Given the description of an element on the screen output the (x, y) to click on. 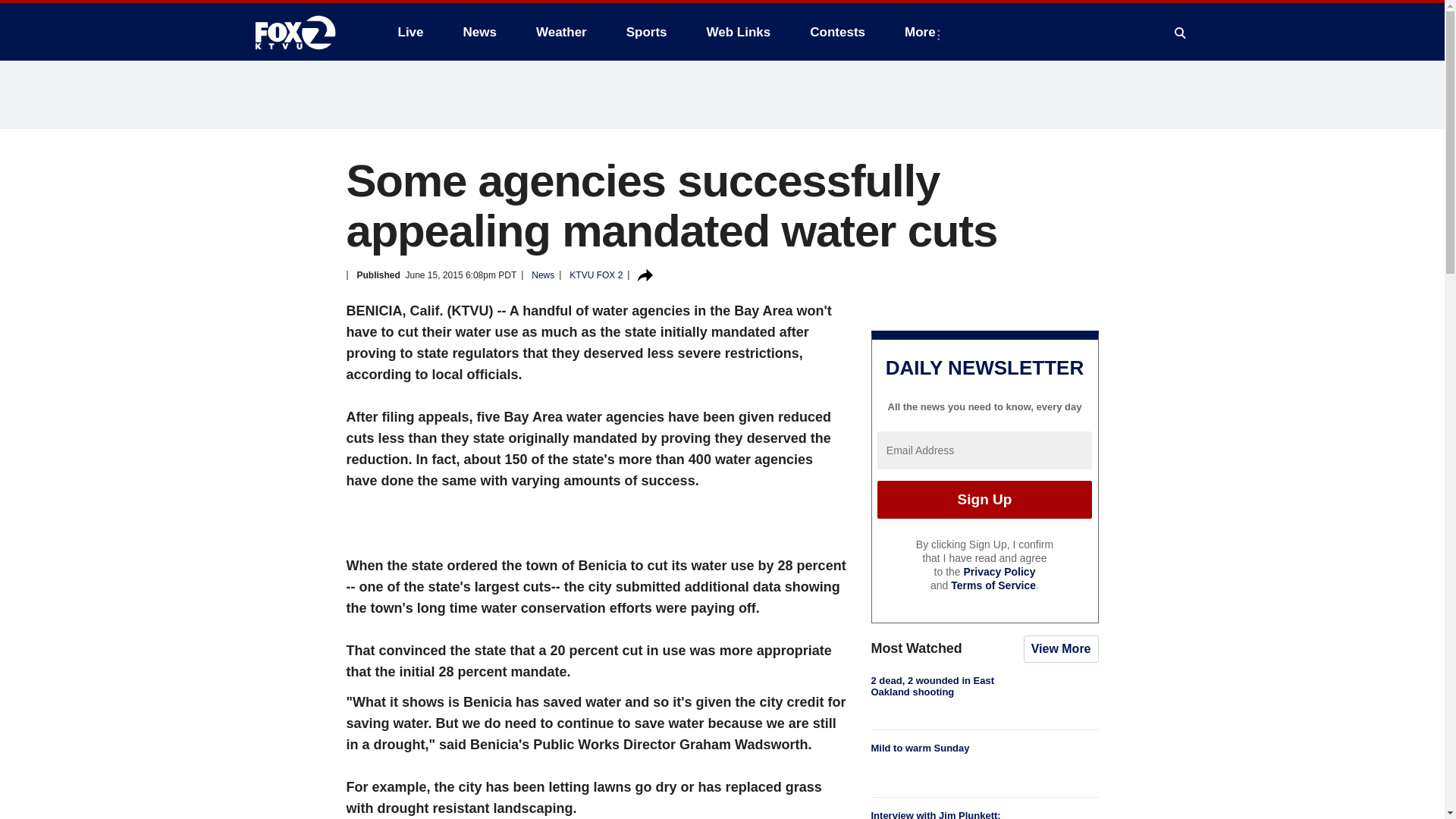
Live (410, 32)
Web Links (738, 32)
More (922, 32)
Sign Up (984, 499)
News (479, 32)
Weather (561, 32)
Sports (646, 32)
Contests (837, 32)
